Given the description of an element on the screen output the (x, y) to click on. 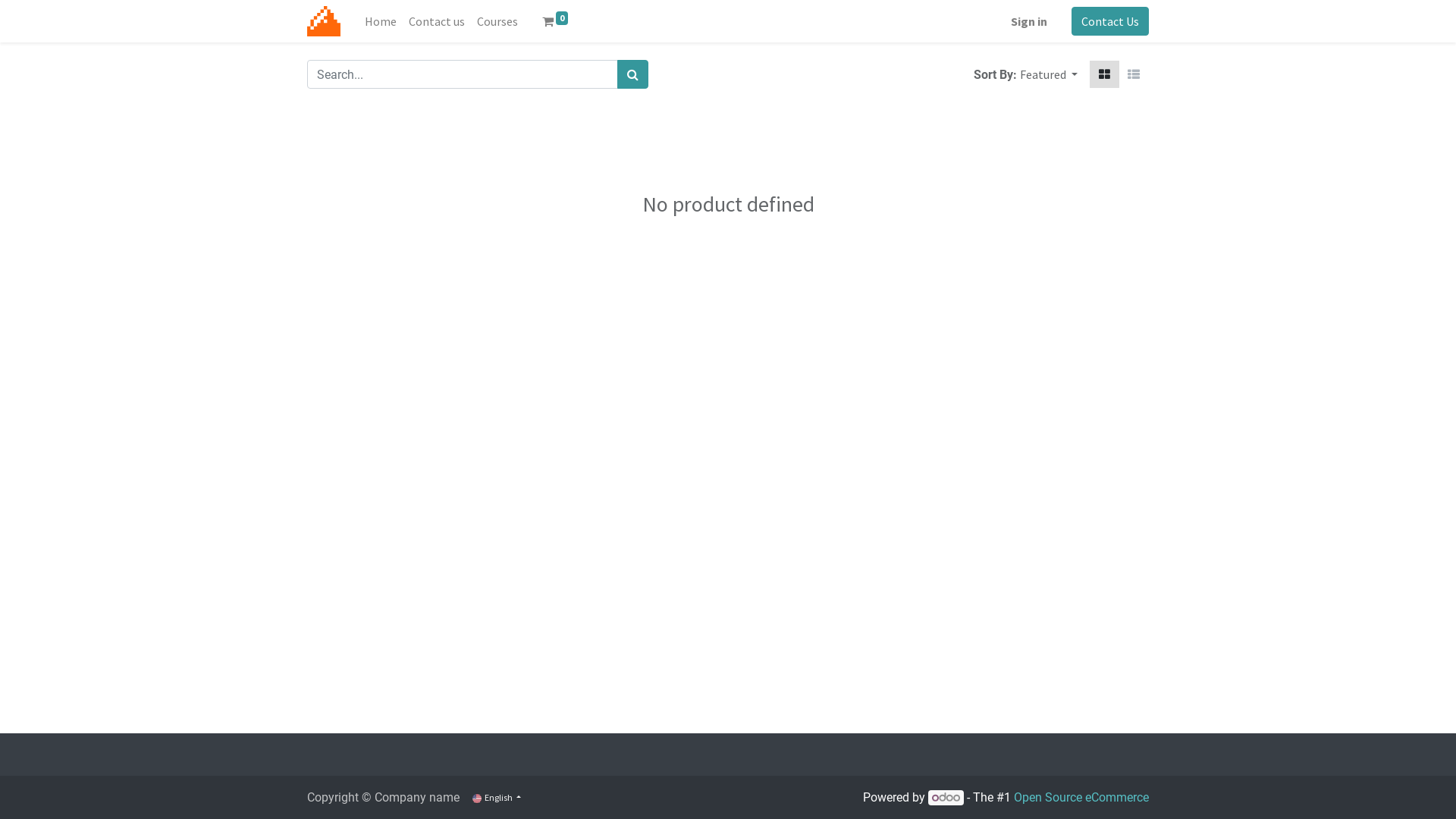
Courses Element type: text (497, 21)
0 Element type: text (555, 21)
Featured Element type: text (1048, 73)
Contact Us Element type: text (1109, 20)
Contact us Element type: text (436, 21)
List Element type: hover (1133, 73)
Search Element type: hover (632, 73)
English Element type: text (496, 797)
Grid Element type: hover (1104, 73)
Open Source eCommerce Element type: text (1080, 797)
Home Element type: text (380, 21)
Sign in Element type: text (1028, 21)
Camptocamp Element type: hover (323, 21)
